Given the description of an element on the screen output the (x, y) to click on. 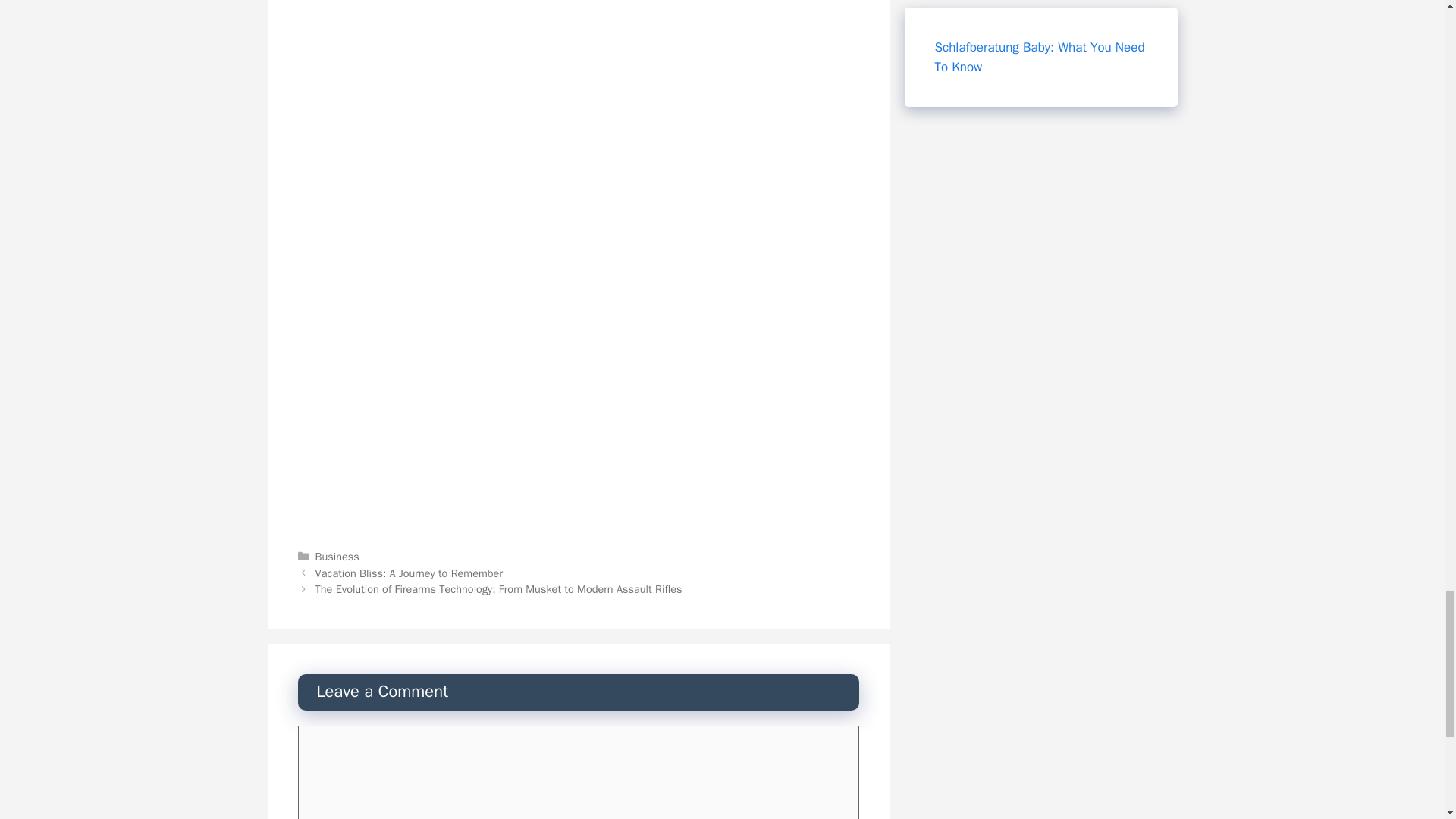
Vacation Bliss: A Journey to Remember (408, 572)
Business (337, 556)
